Given the description of an element on the screen output the (x, y) to click on. 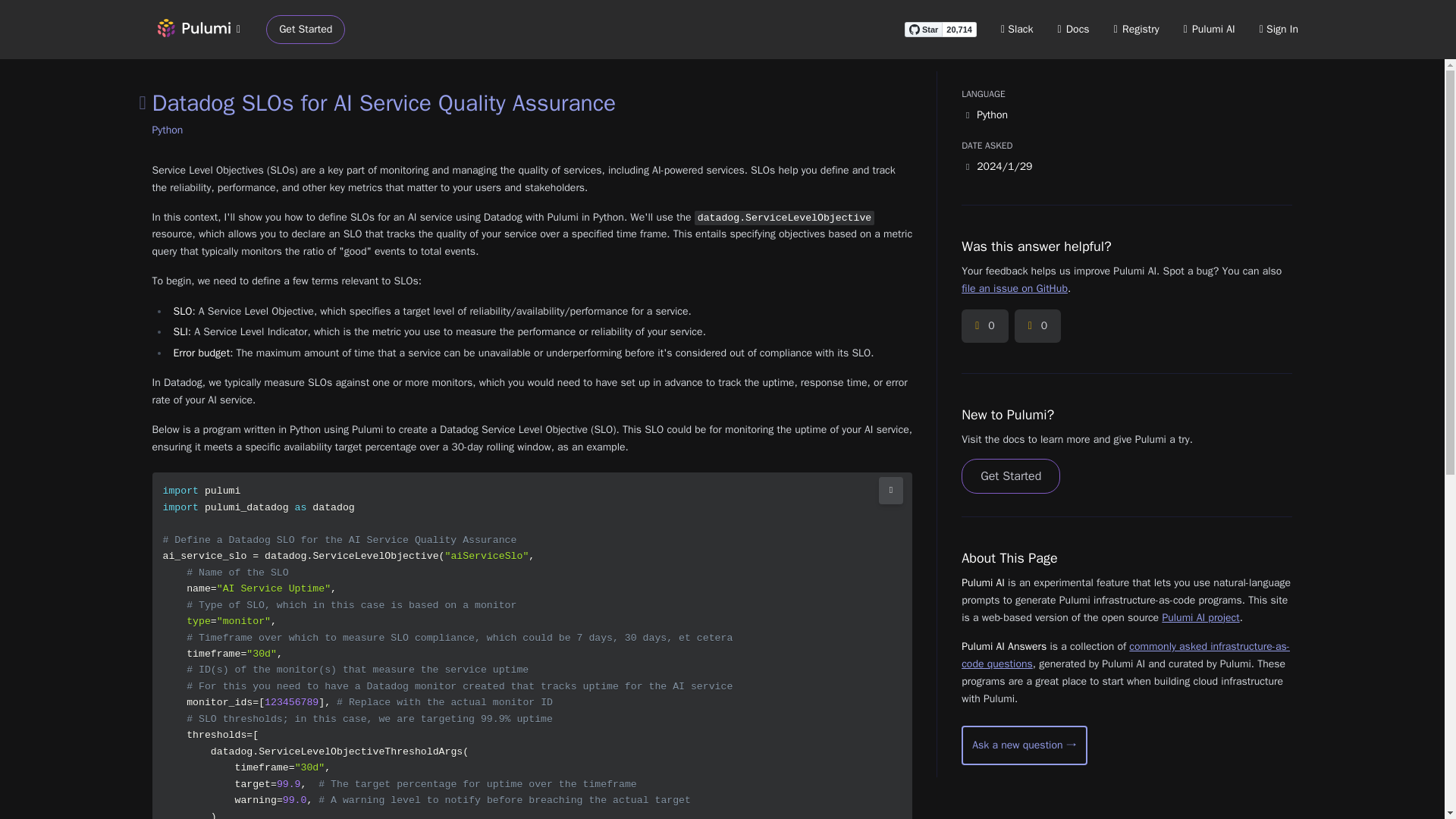
 Star (923, 29)
20,714 (959, 29)
0 (984, 326)
Slack (1017, 29)
Docs (1073, 29)
Start a new conversation with Pulumi AI (1023, 744)
Sign In (1278, 29)
file an issue on GitHub (1013, 287)
Pulumi AI (1208, 29)
Upvote this answer (984, 326)
